Given the description of an element on the screen output the (x, y) to click on. 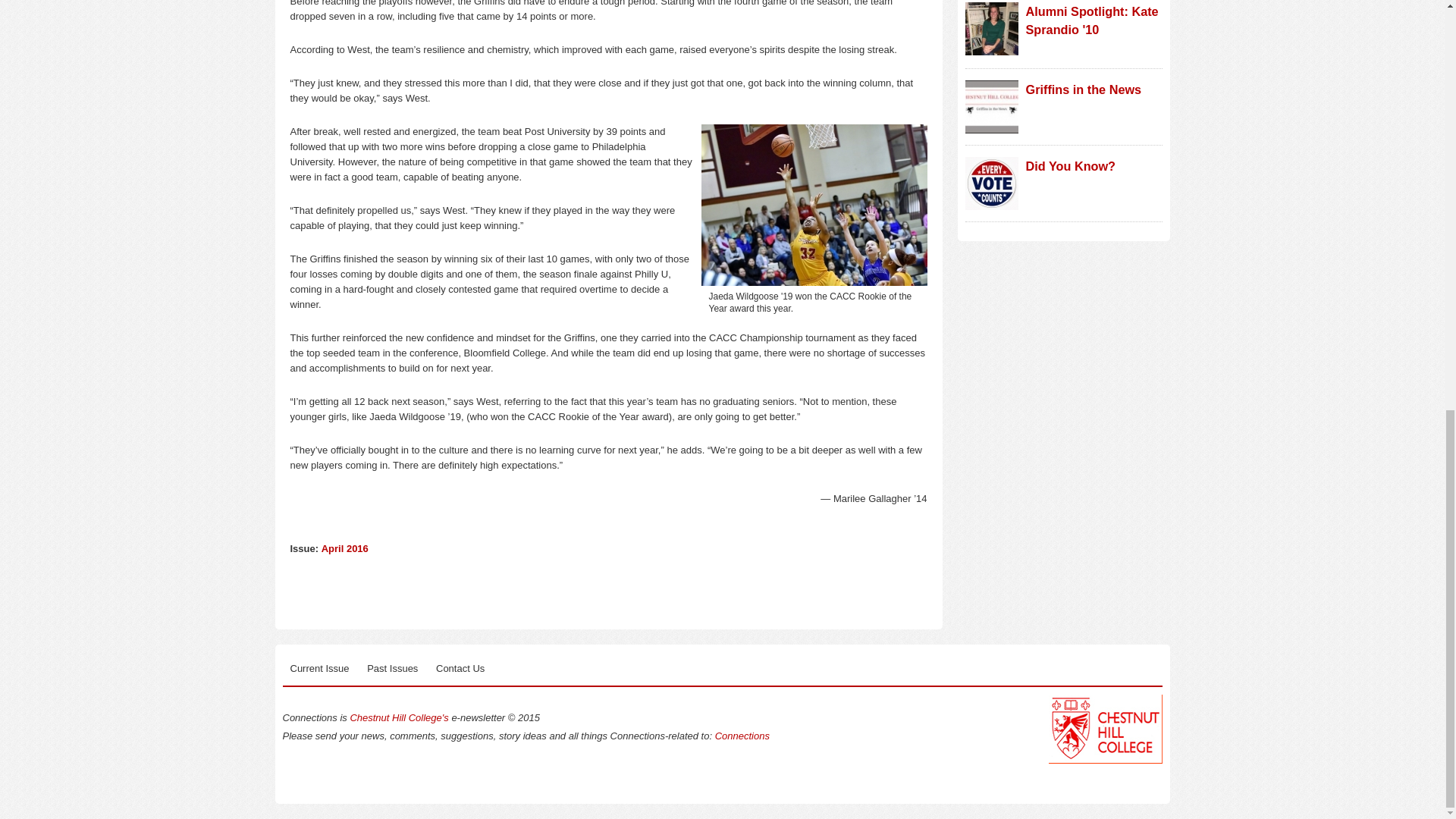
Past Issues of e-Newsletter (392, 669)
Alumni Spotlight: Kate Sprandio '10 (1091, 20)
April 2016 (344, 548)
Contact Us (460, 669)
